Given the description of an element on the screen output the (x, y) to click on. 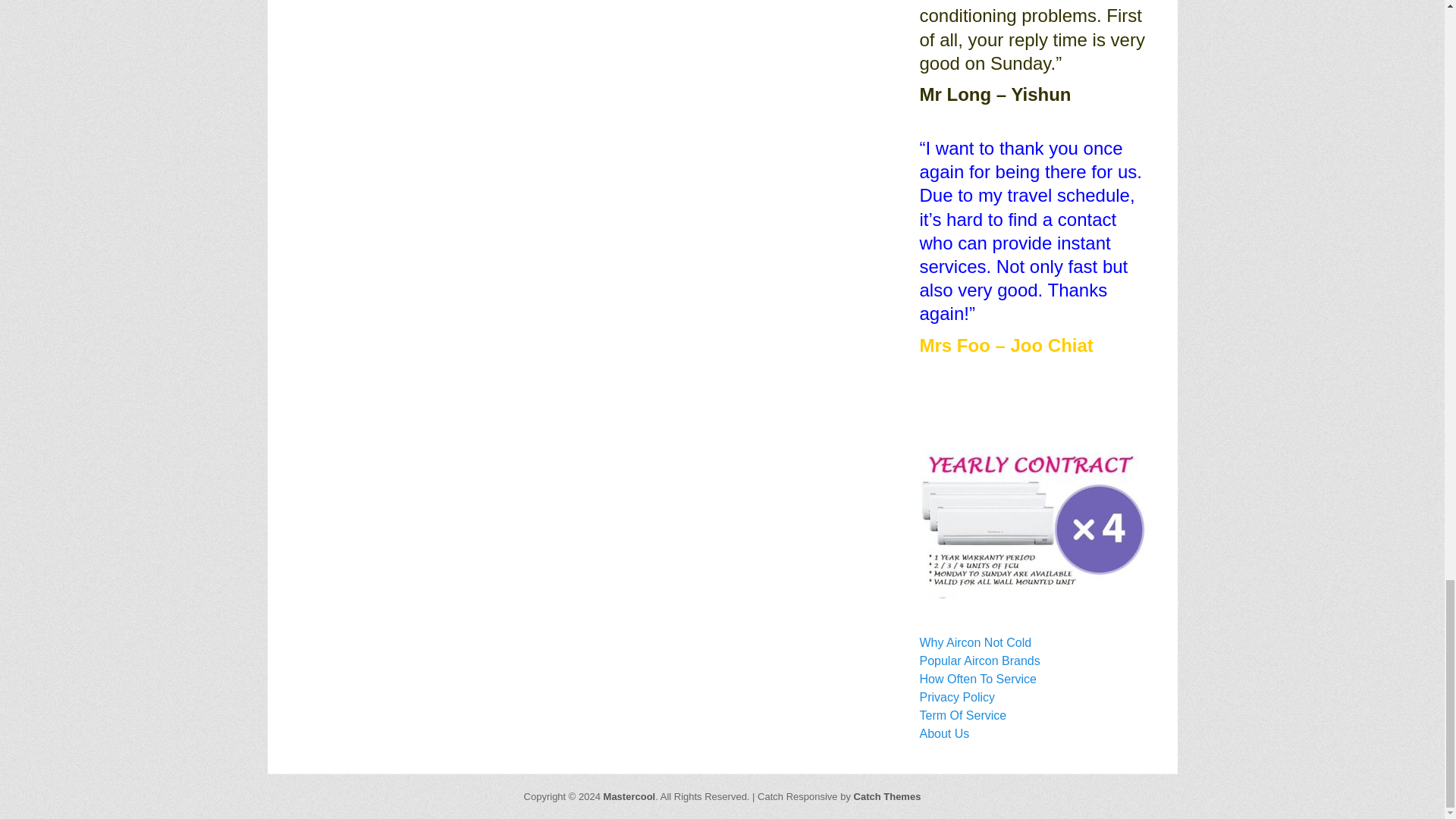
How Often To Service (976, 678)
Term Of Service (962, 715)
Why Aircon Not Cold (974, 642)
Catch Themes (887, 796)
About Us (943, 733)
Mastercool (630, 796)
Popular Aircon Brands (978, 660)
Privacy Policy (956, 697)
